Given the description of an element on the screen output the (x, y) to click on. 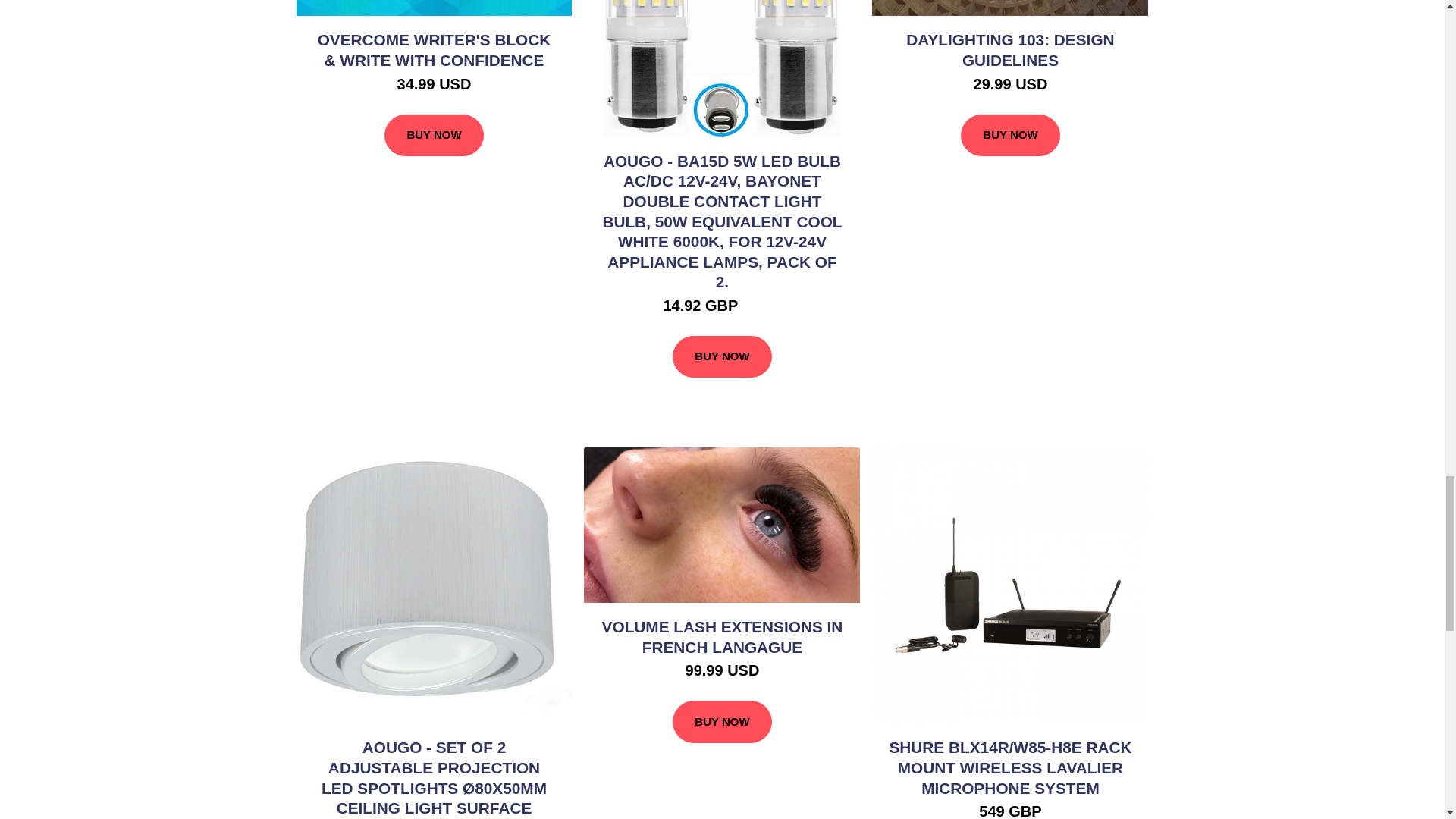
BUY NOW (1009, 135)
BUY NOW (721, 356)
BUY NOW (433, 135)
DAYLIGHTING 103: DESIGN GUIDELINES (1009, 49)
